Given the description of an element on the screen output the (x, y) to click on. 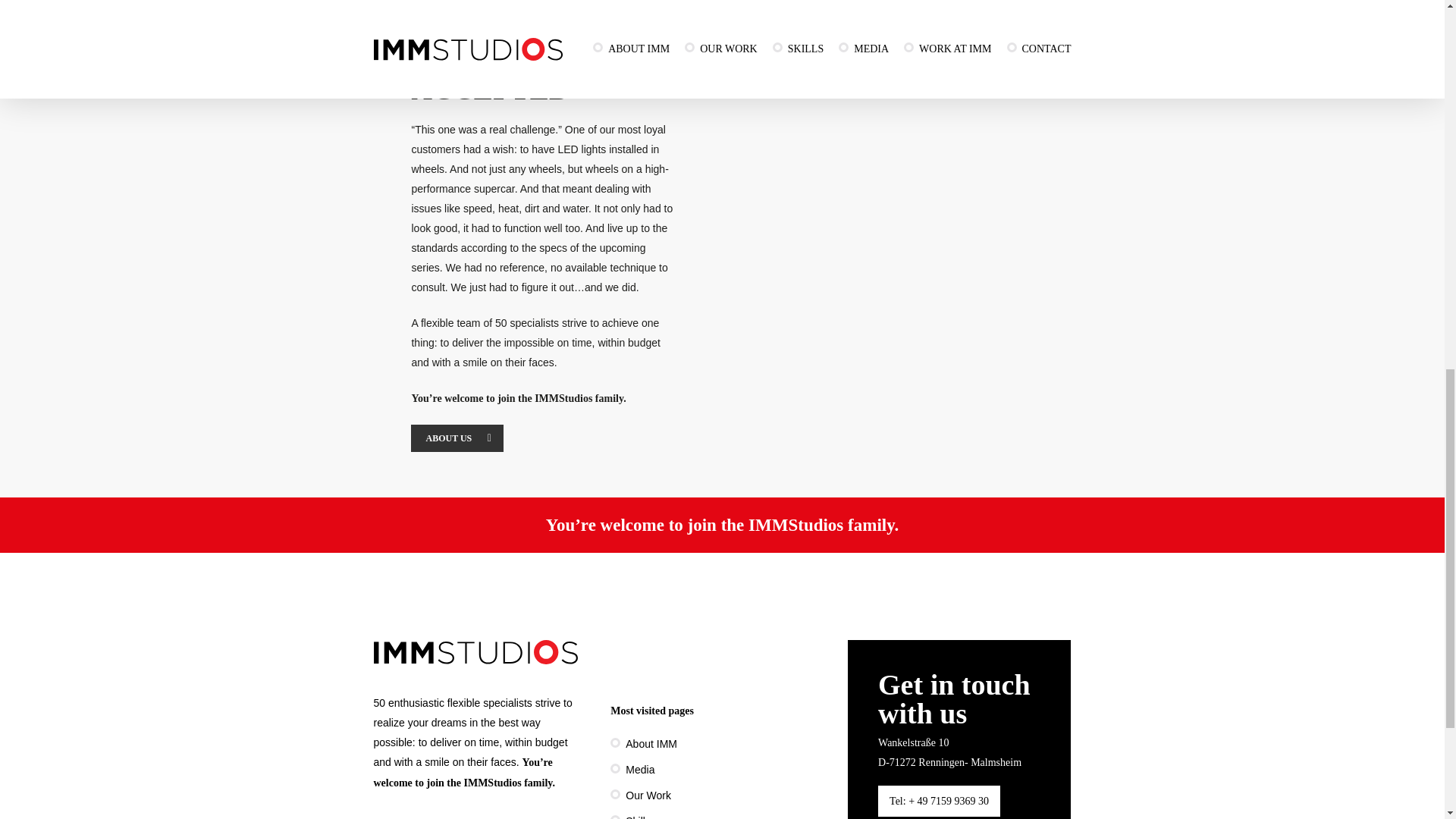
Skills (721, 815)
About IMM (721, 743)
Our Work (721, 795)
Media (721, 769)
ABOUT US (456, 438)
